Given the description of an element on the screen output the (x, y) to click on. 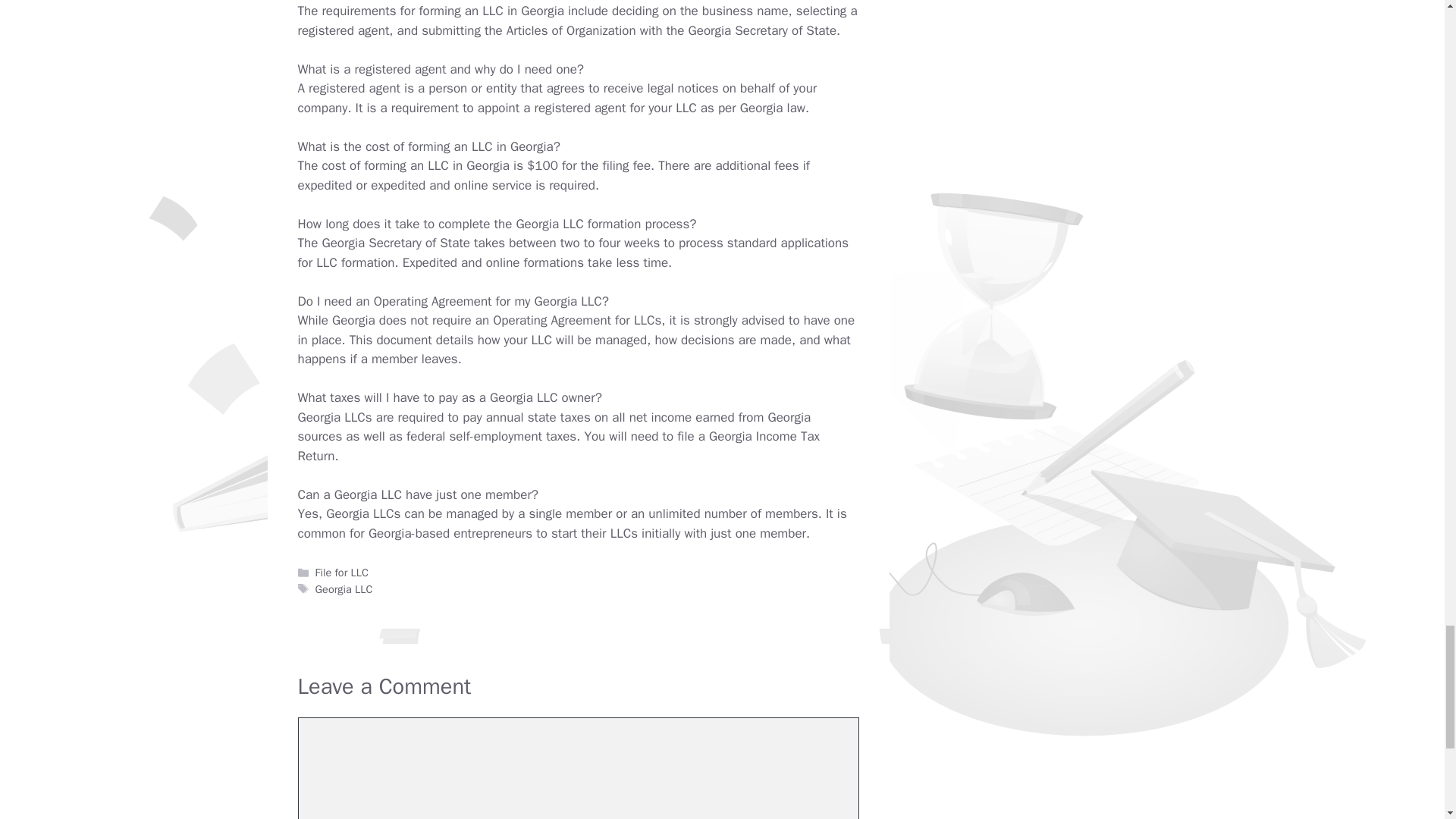
File for LLC (341, 572)
Georgia LLC (343, 589)
